Given the description of an element on the screen output the (x, y) to click on. 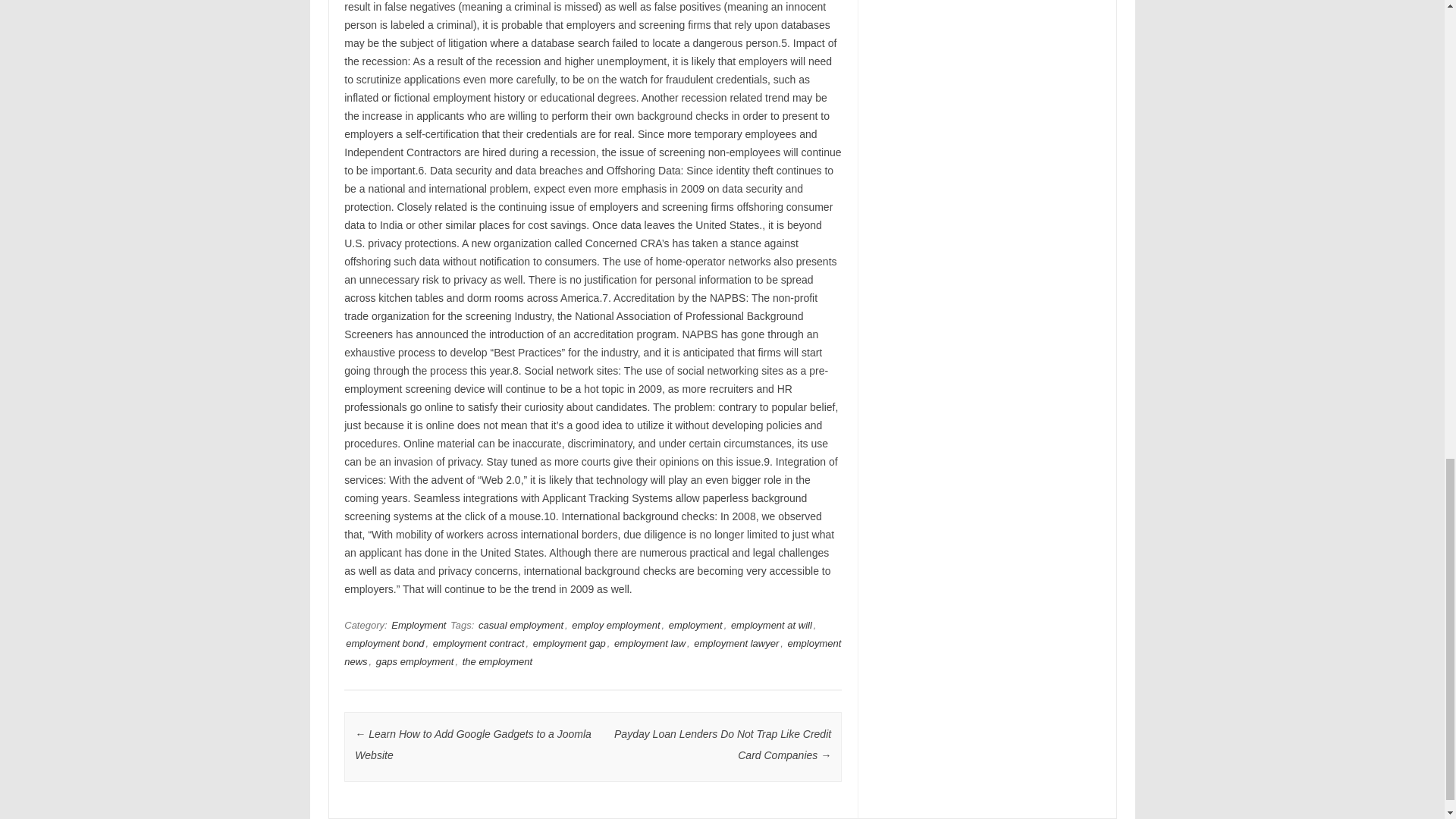
employment (694, 625)
gaps employment (414, 661)
casual employment (520, 625)
employment lawyer (736, 643)
employment gap (569, 643)
employment news (592, 652)
employment at will (771, 625)
employment bond (384, 643)
Employment (418, 625)
the employment (497, 661)
